Given the description of an element on the screen output the (x, y) to click on. 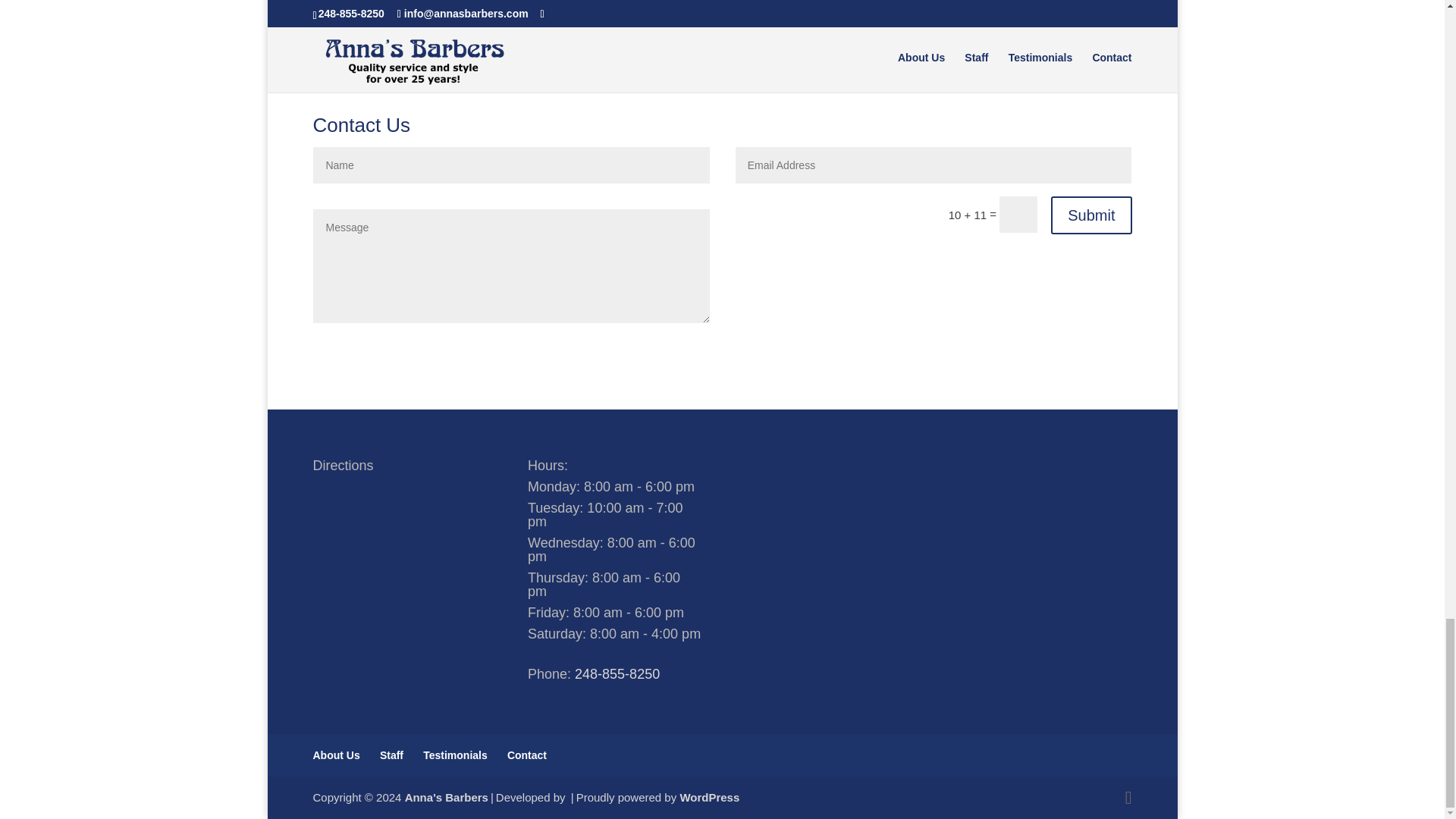
Staff (391, 755)
Anna's Barbers (445, 797)
Testimonials (455, 755)
About Us (336, 755)
Contact (526, 755)
248-855-8250 (617, 673)
WordPress (709, 797)
Submit (1091, 215)
